Given the description of an element on the screen output the (x, y) to click on. 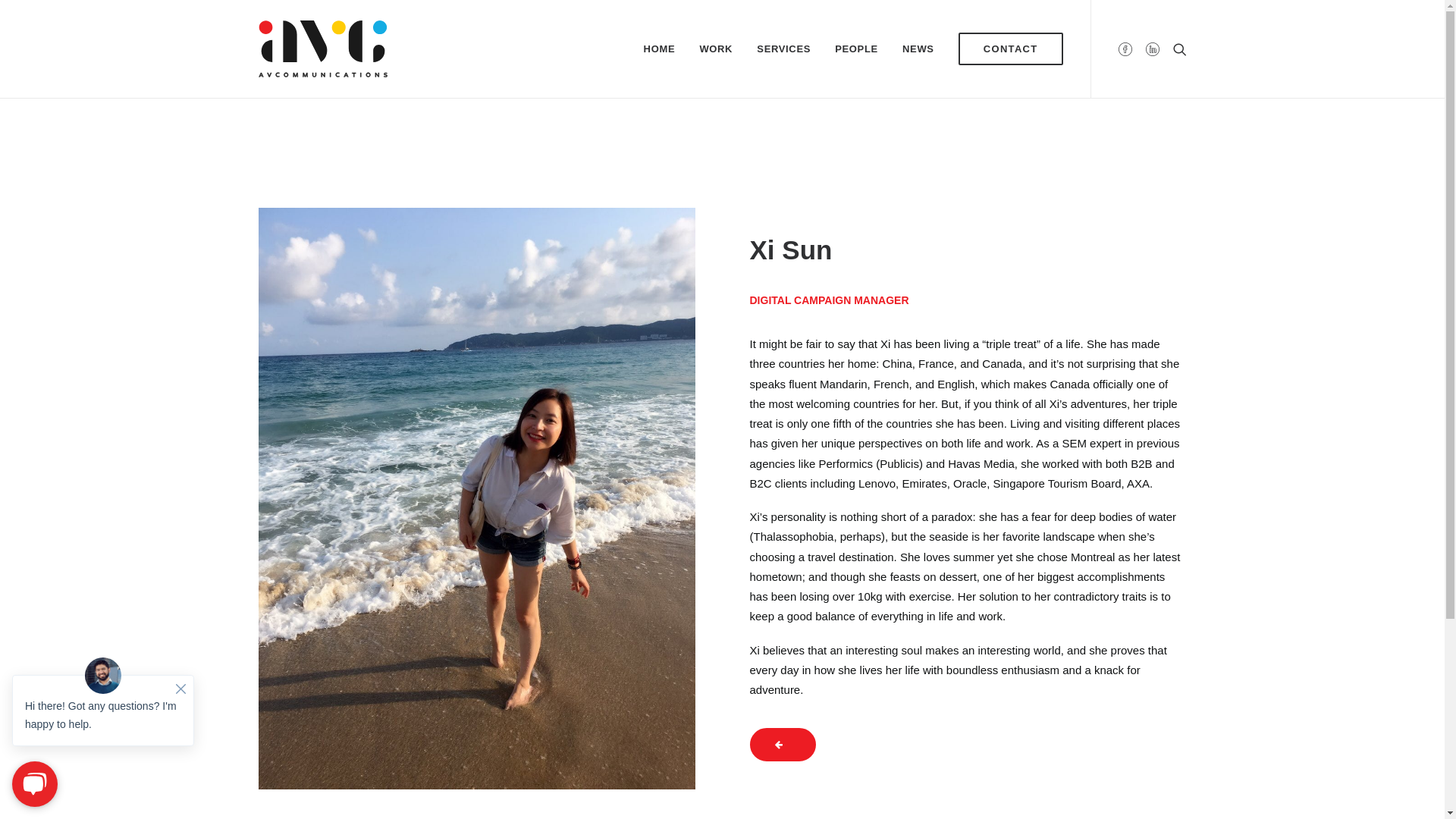
HOME Element type: text (659, 48)
CONTACT Element type: text (1005, 48)
SERVICES Element type: text (783, 48)
People Element type: hover (782, 744)
NEWS Element type: text (917, 48)
PEOPLE Element type: text (856, 48)
WORK Element type: text (715, 48)
